Given the description of an element on the screen output the (x, y) to click on. 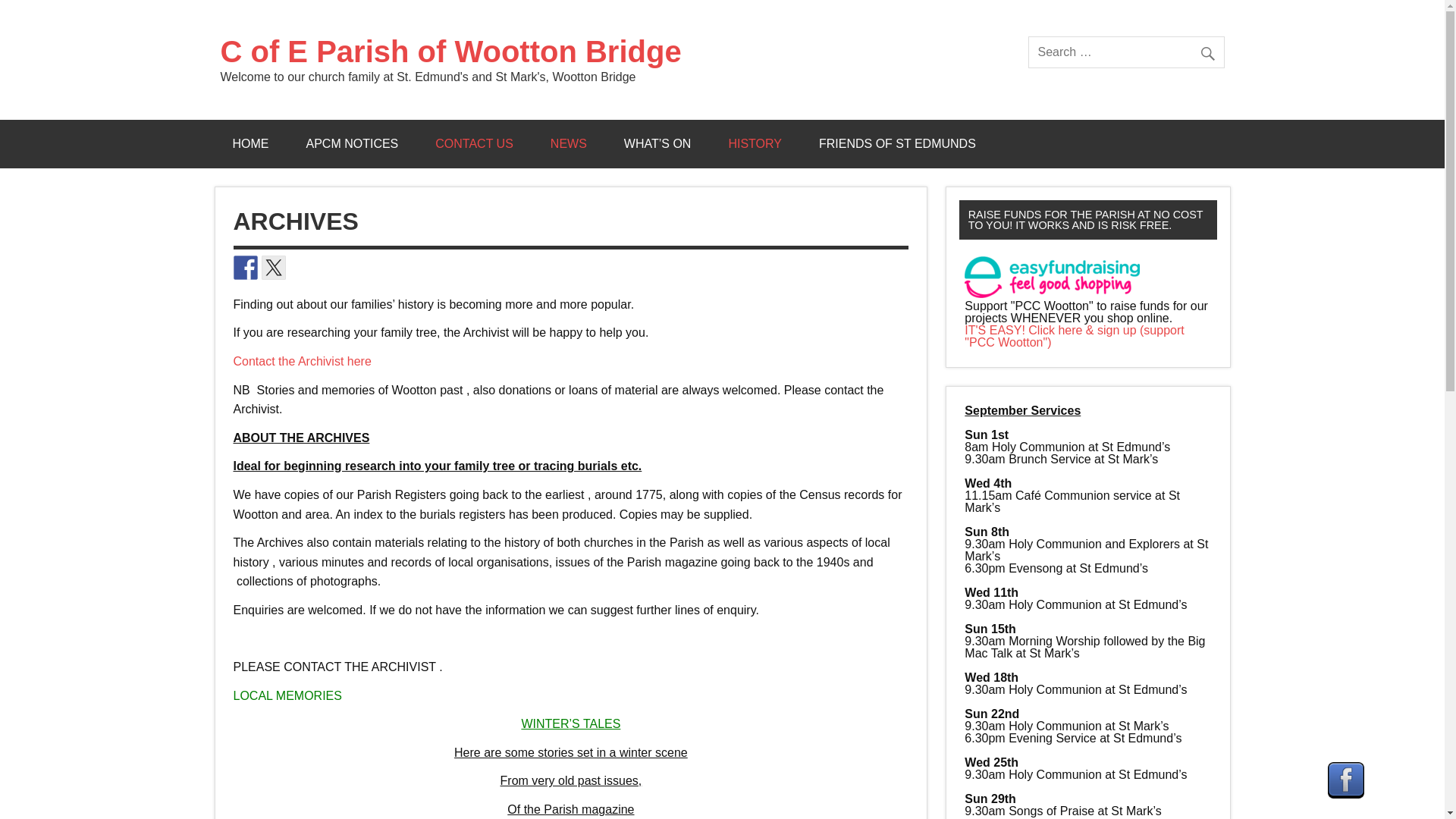
NEWS (568, 143)
Visit Us On Facebook (1345, 793)
HOME (250, 143)
C of E Parish of Wootton Bridge (450, 51)
FRIENDS OF ST EDMUNDS (897, 143)
Follow us on Facebook (244, 267)
Follow us on Twitter (272, 267)
HISTORY (754, 143)
CONTACT US (473, 143)
APCM NOTICES (352, 143)
